Given the description of an element on the screen output the (x, y) to click on. 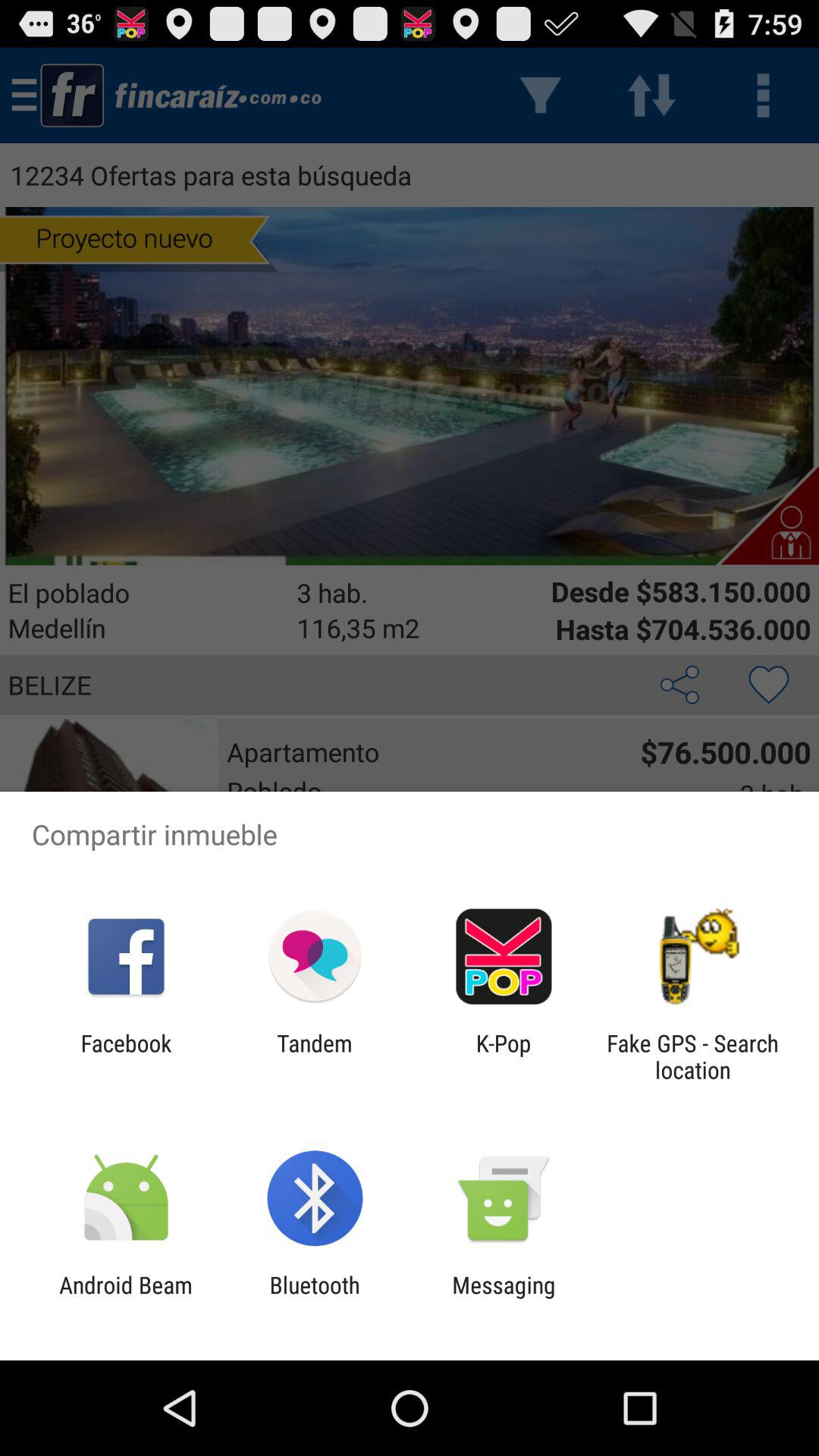
click the item next to tandem (503, 1056)
